Given the description of an element on the screen output the (x, y) to click on. 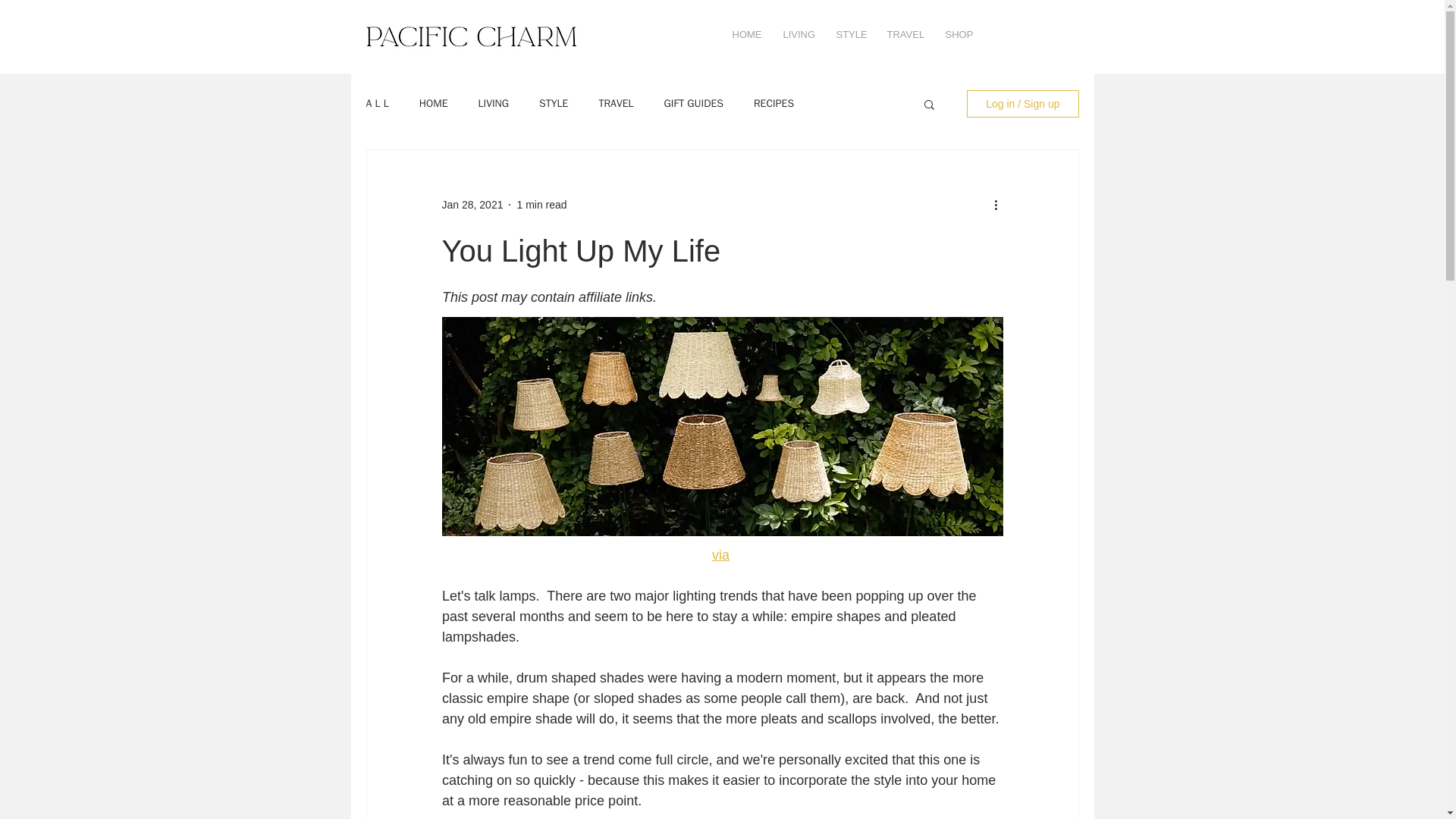
Jan 28, 2021 (471, 204)
A L L (376, 103)
STYLE (552, 103)
Pacific Charm (470, 36)
HOME (745, 34)
via (720, 554)
TRAVEL (615, 103)
STYLE (850, 34)
SHOP (959, 34)
RECIPES (773, 103)
